Given the description of an element on the screen output the (x, y) to click on. 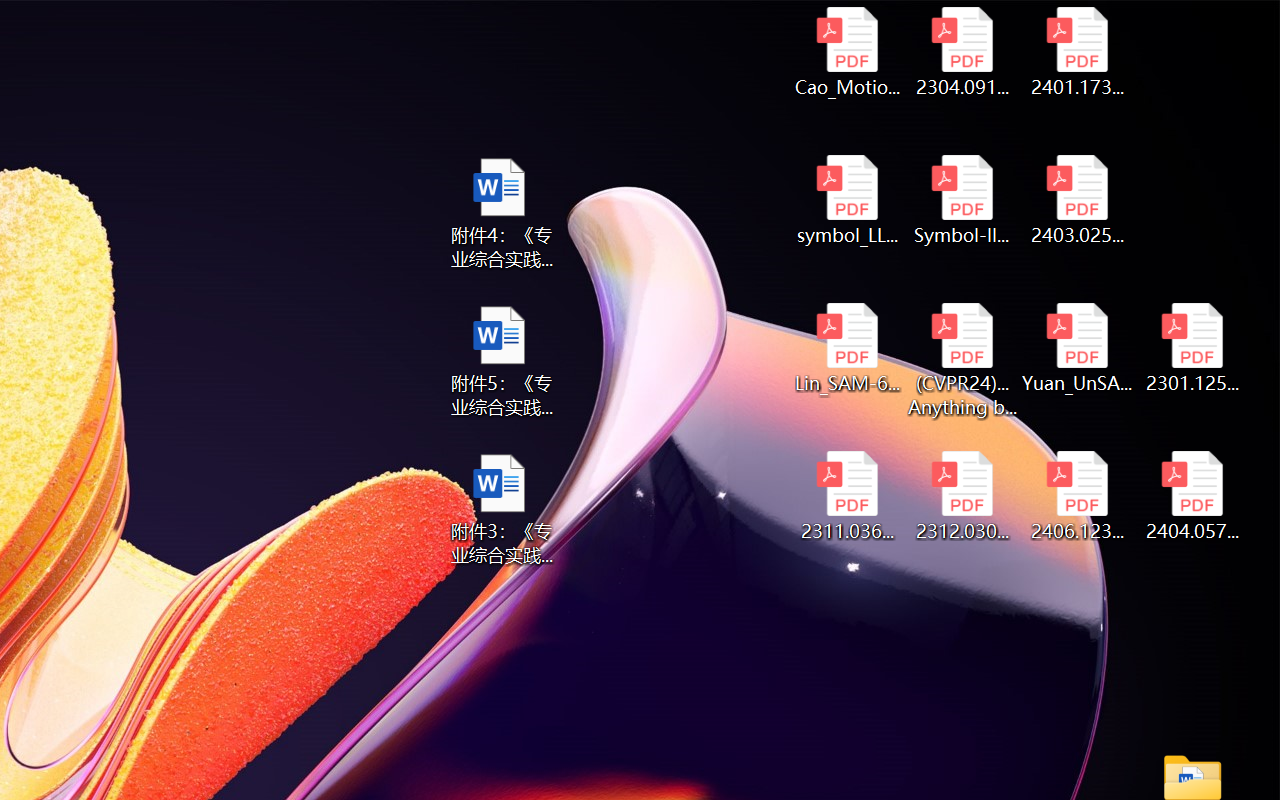
2403.02502v1.pdf (1077, 200)
